Given the description of an element on the screen output the (x, y) to click on. 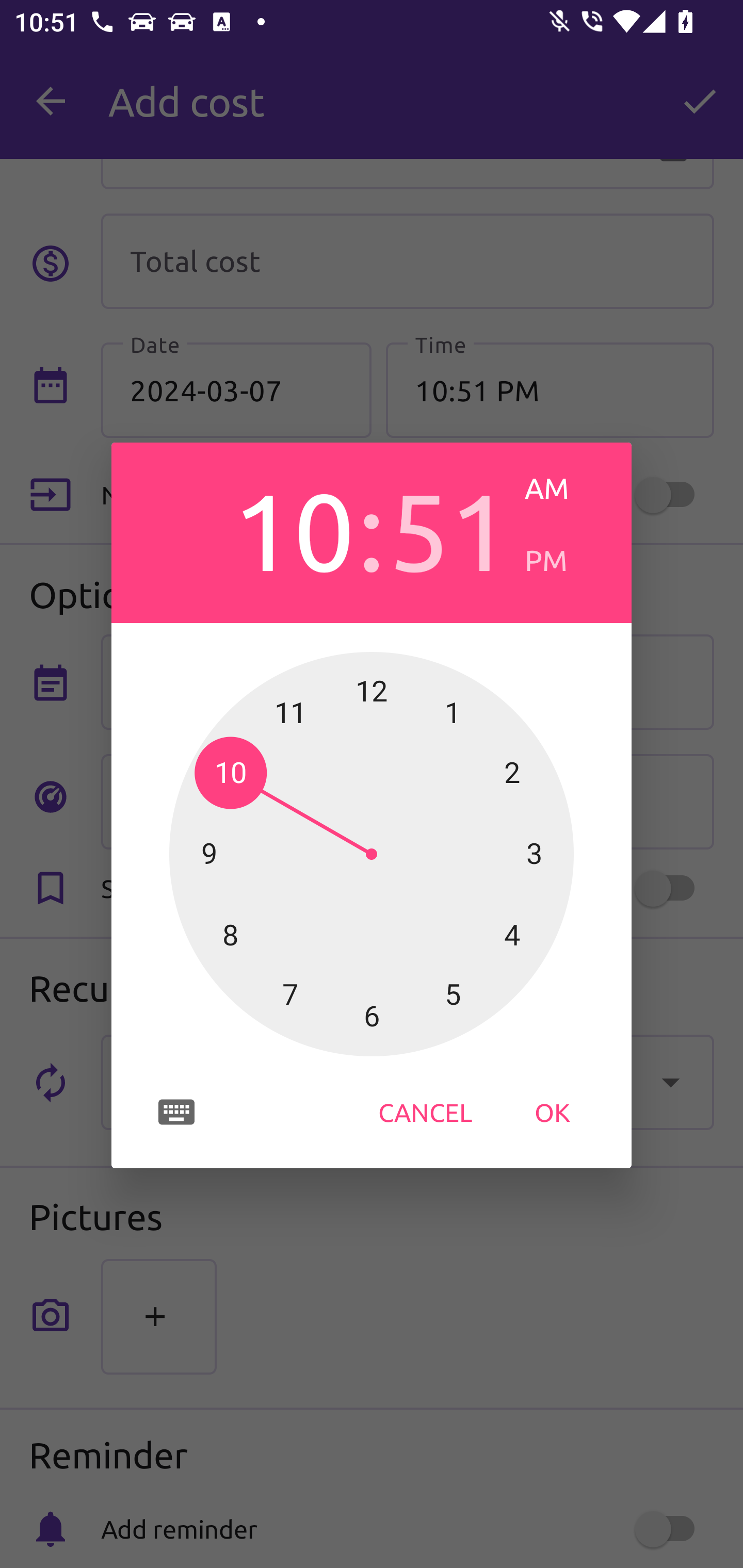
AM (563, 488)
10 (293, 528)
51 (449, 528)
PM (563, 560)
CANCEL (425, 1111)
OK (552, 1111)
Switch to text input mode for the time input. (175, 1112)
